Given the description of an element on the screen output the (x, y) to click on. 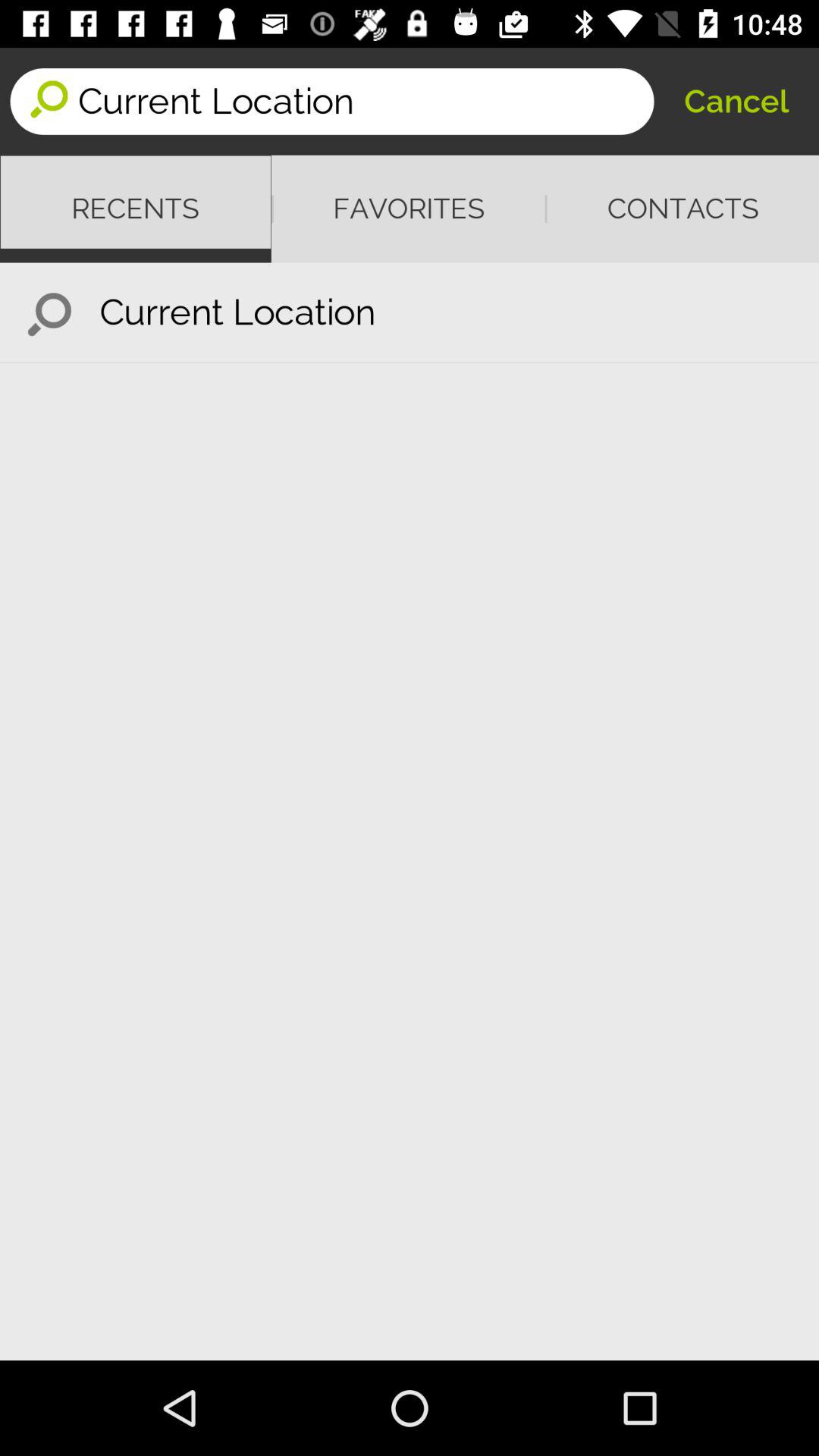
choose icon next to the current location (49, 312)
